Given the description of an element on the screen output the (x, y) to click on. 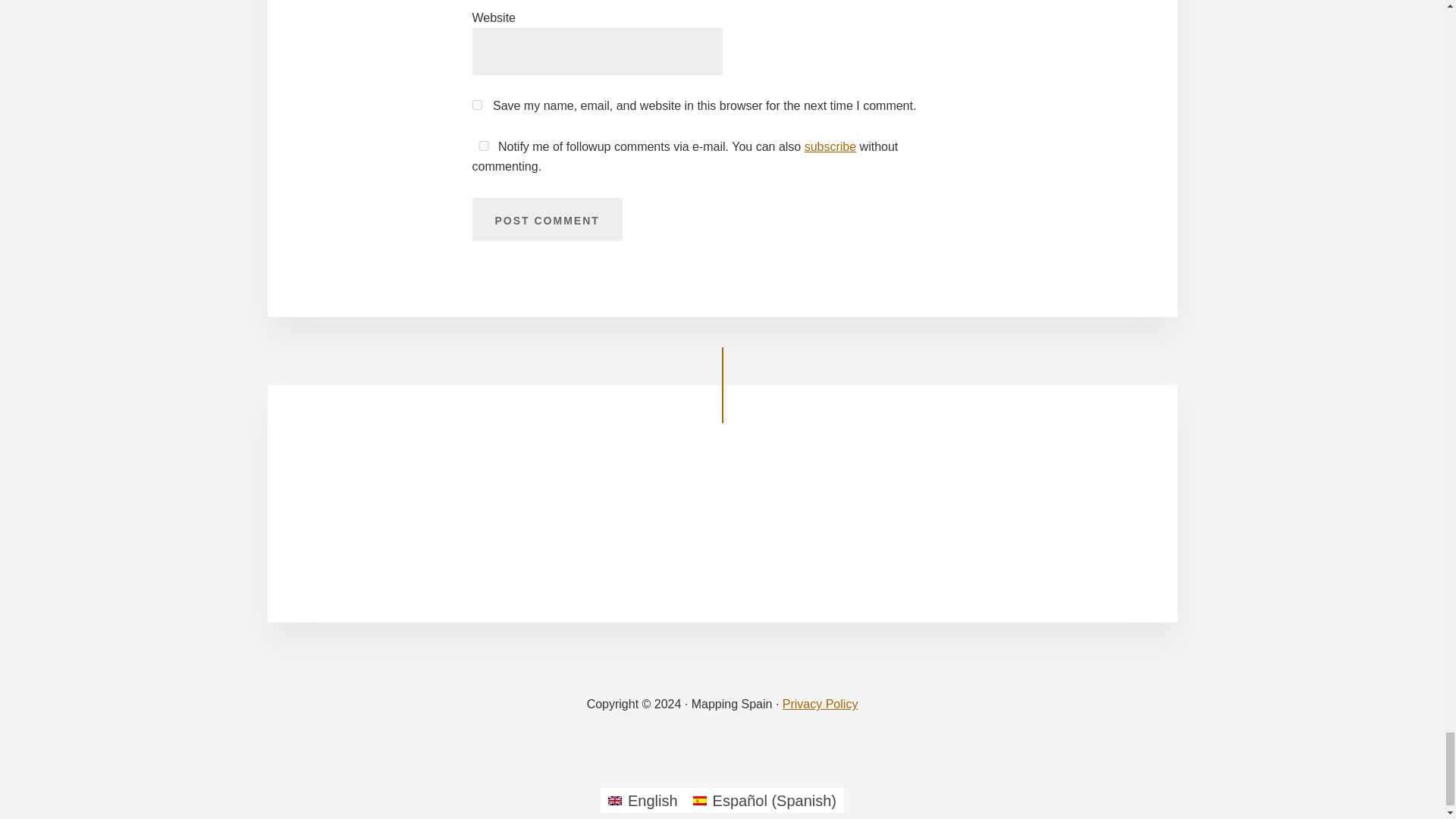
yes (476, 104)
yes (483, 145)
Post Comment (546, 219)
